Given the description of an element on the screen output the (x, y) to click on. 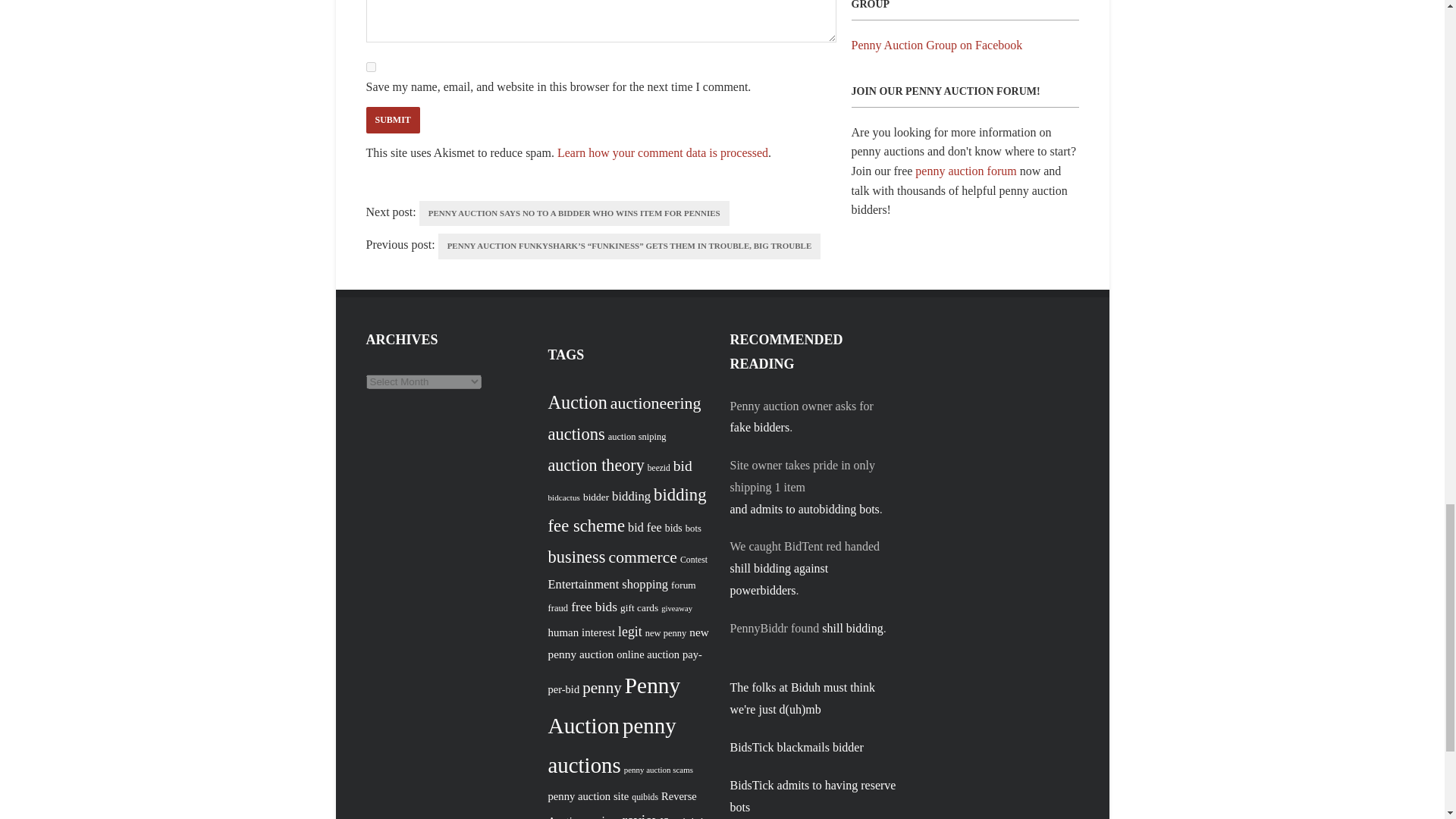
yes (370, 67)
Submit (392, 120)
